Given the description of an element on the screen output the (x, y) to click on. 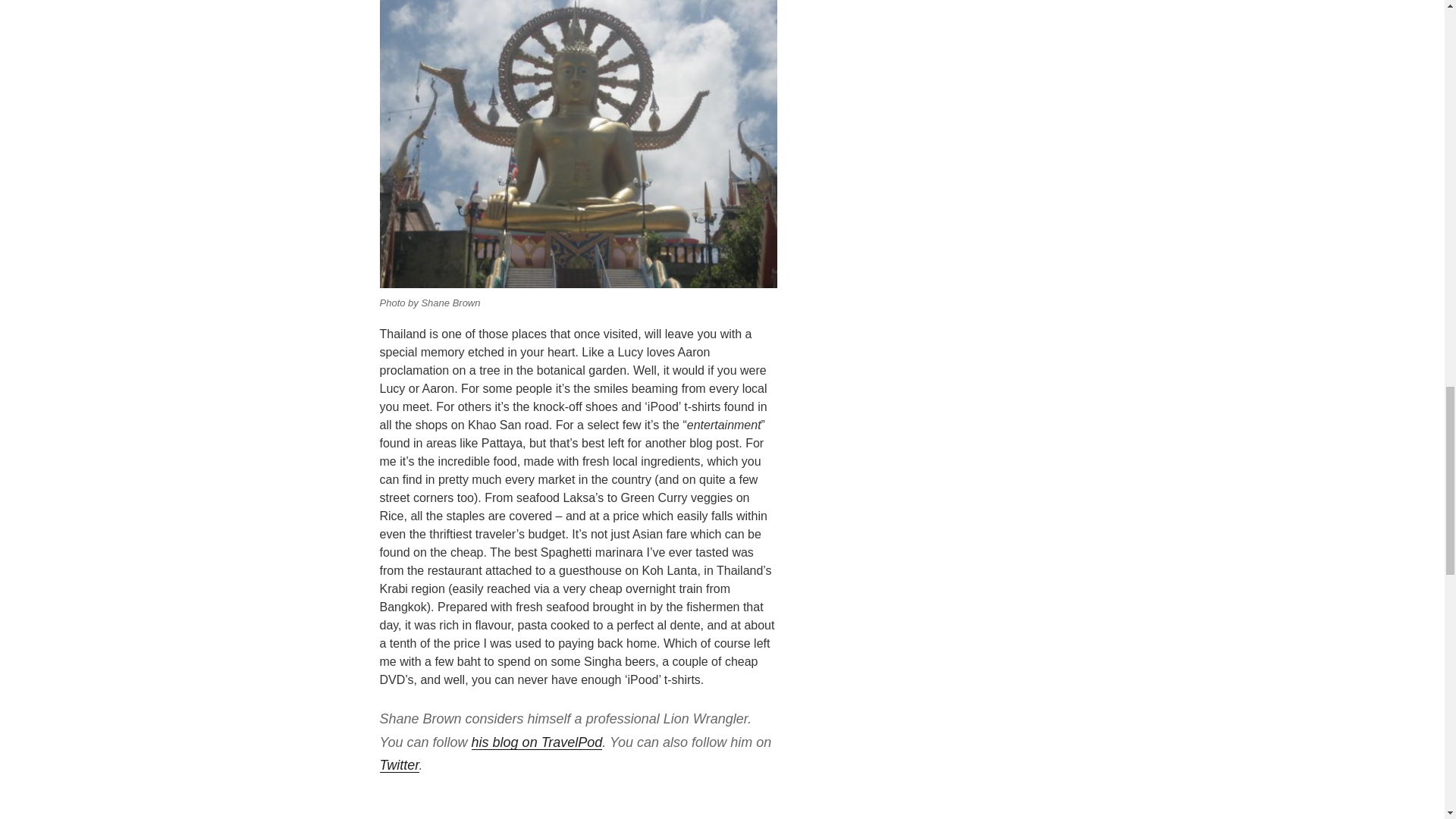
his blog on TravelPod (536, 742)
Twitter (398, 765)
Shane Brown's Travel Blog (536, 742)
